Given the description of an element on the screen output the (x, y) to click on. 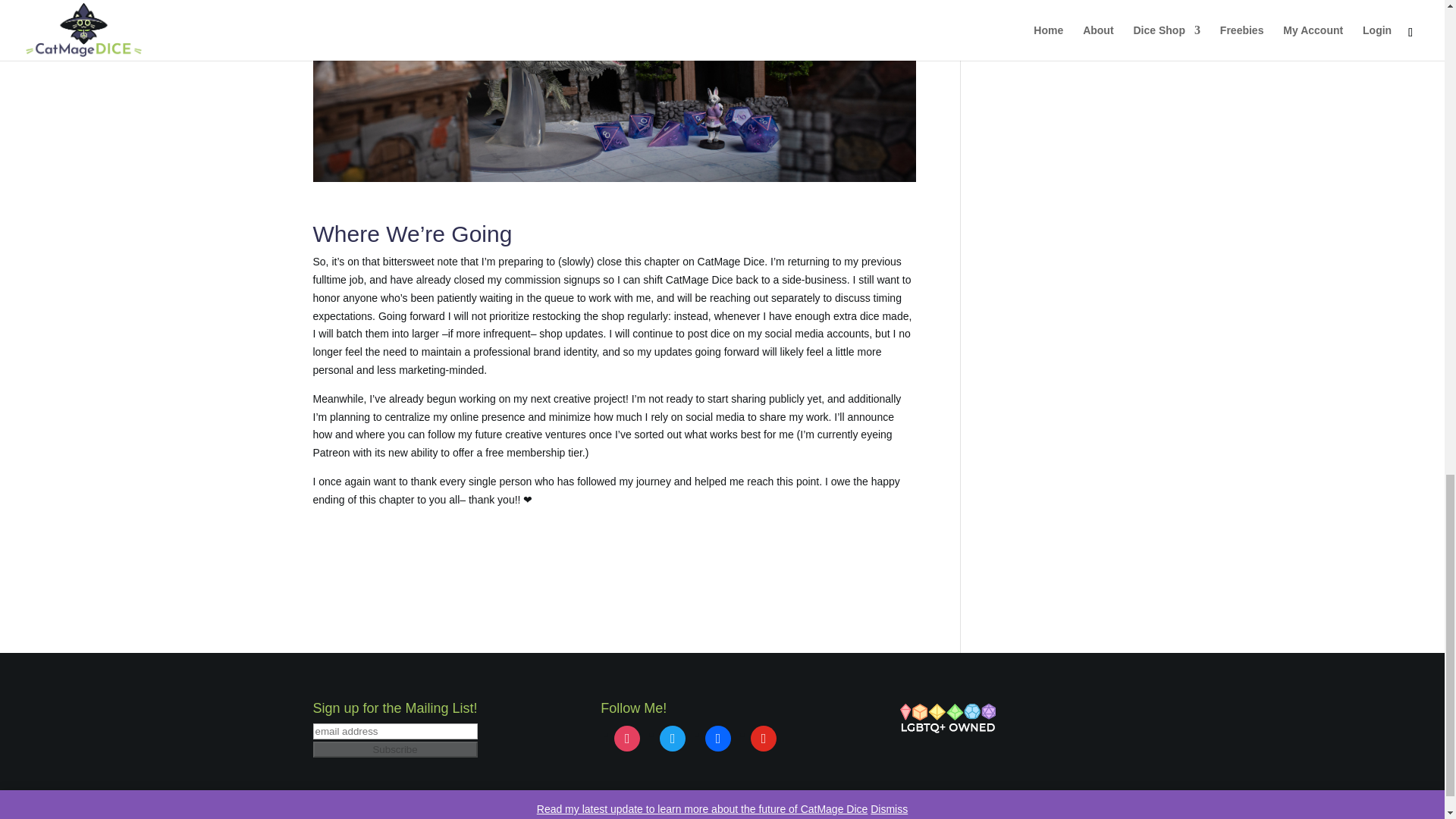
future-update-ruby (614, 90)
Subscribe (395, 749)
Facebook (717, 737)
youtube (763, 737)
X (672, 737)
instagram (627, 737)
Subscribe (395, 749)
facebook (717, 737)
twitter (672, 737)
Instagram (627, 737)
